Given the description of an element on the screen output the (x, y) to click on. 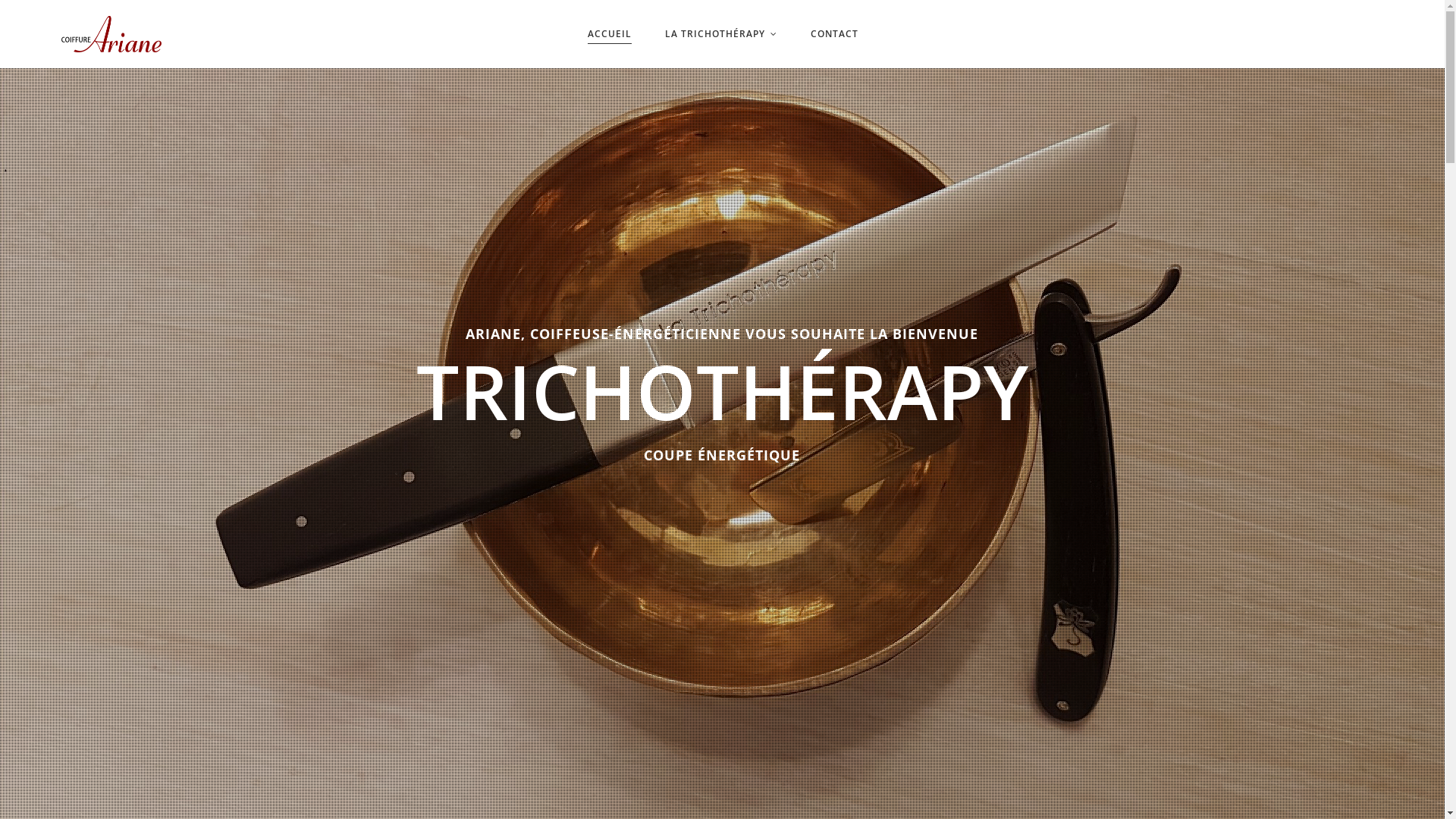
Live Dealer Roulette In Casinospielen In Der Schweiz Element type: text (150, 198)
ACCUEIL Element type: text (608, 34)
CONTACT Element type: text (833, 34)
Online Slot Kostenlos Ohne Anmeldung Schweizerisch Element type: text (140, 73)
Casino Automaten Online Paypal Einzahlung Schweizerisch 2023 Element type: text (184, 256)
Online Casino 5 Euro Startguthaben In Der Schweiz 2023 Element type: text (146, 93)
